Given the description of an element on the screen output the (x, y) to click on. 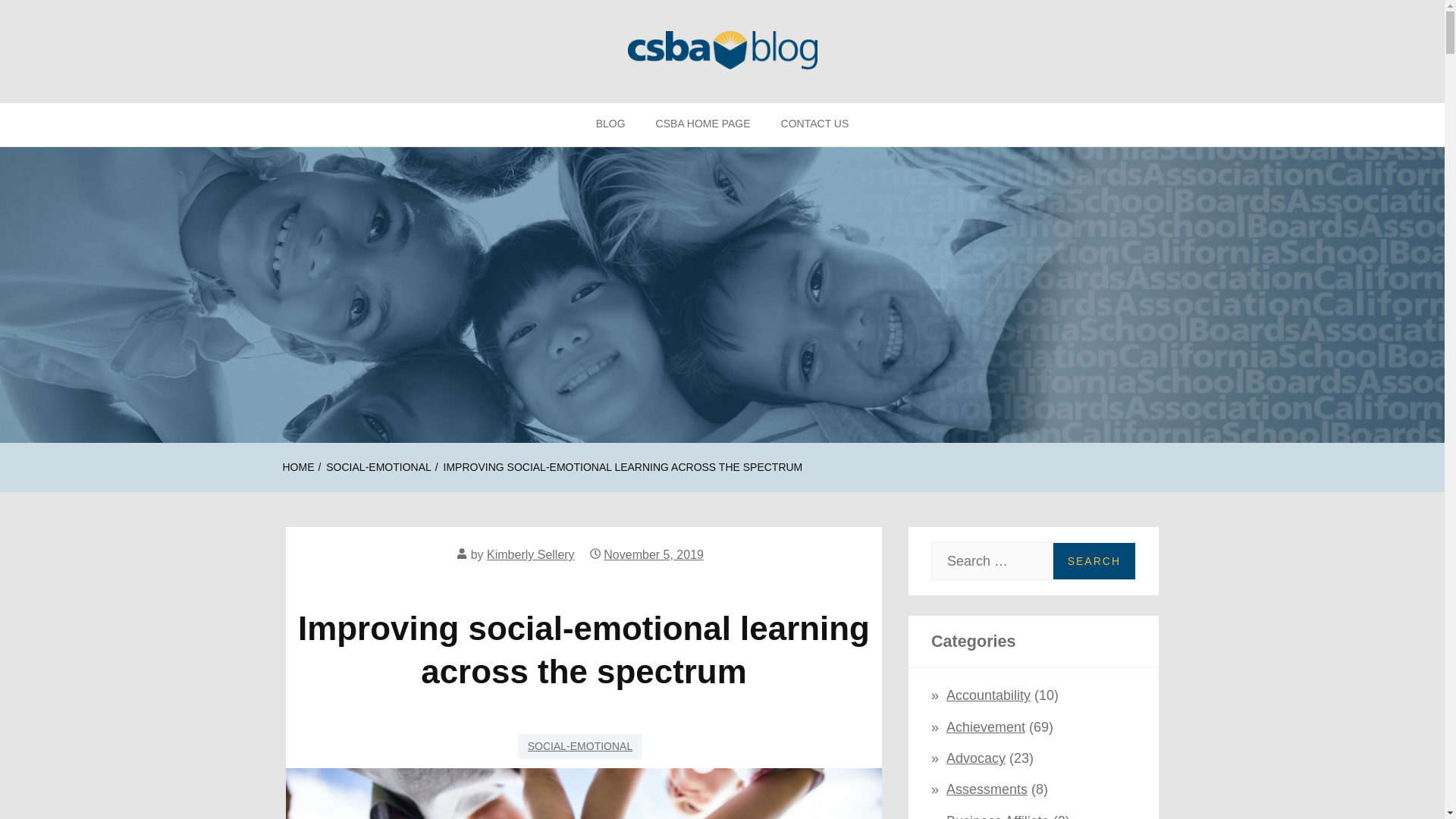
Advocacy (976, 758)
Search (1093, 560)
HOME (298, 467)
BLOG (610, 124)
Kimberly Sellery (530, 554)
Accountability (988, 694)
Business Affiliate (997, 816)
Search (1093, 560)
Search (1093, 560)
CSBA Blog (88, 127)
